Given the description of an element on the screen output the (x, y) to click on. 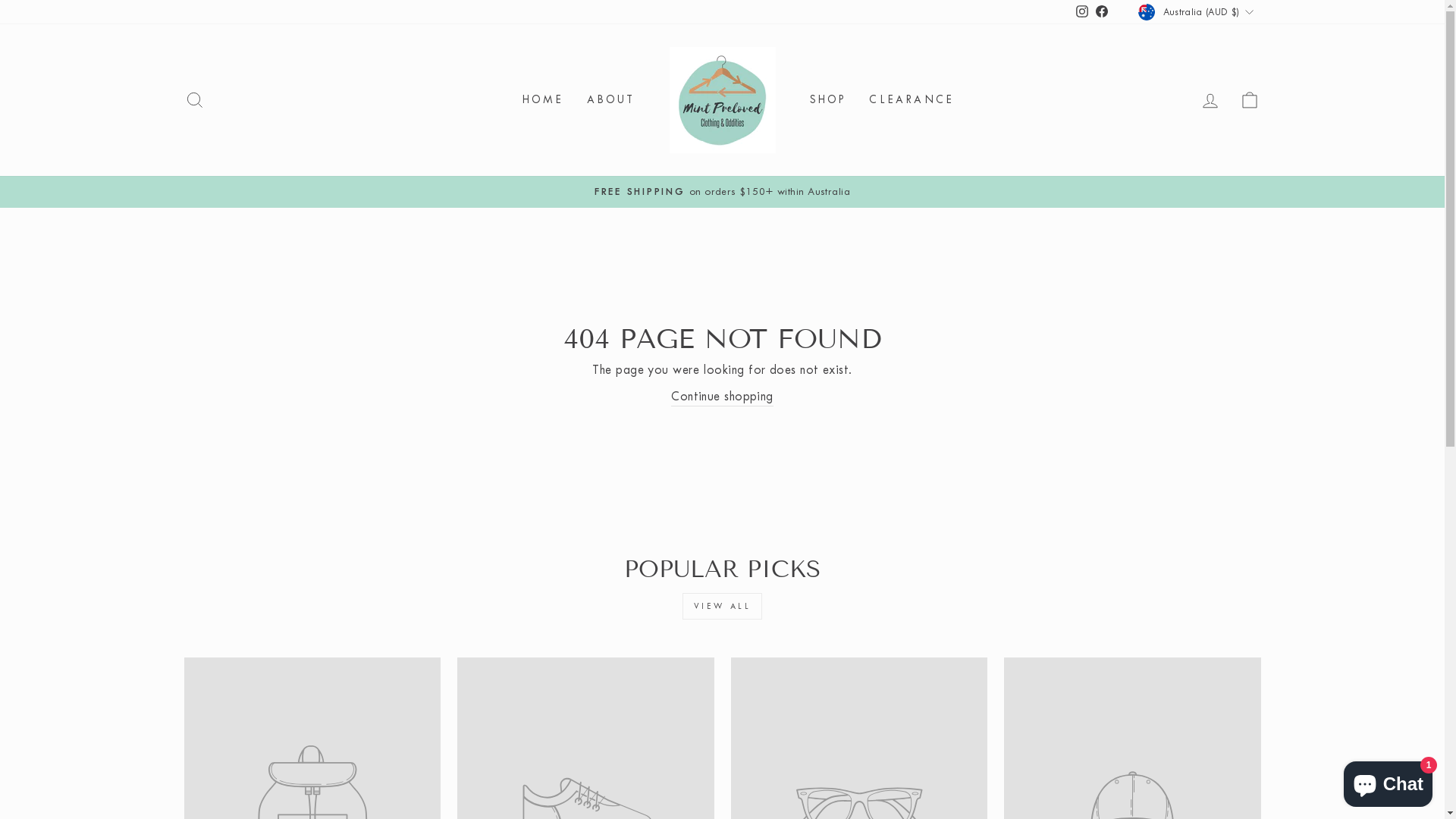
SHOP Element type: text (827, 100)
Instagram Element type: text (1082, 11)
Facebook Element type: text (1101, 11)
CLEARANCE Element type: text (911, 100)
Shopify online store chat Element type: hover (1388, 780)
HOME Element type: text (543, 100)
LOG IN Element type: text (1210, 100)
CART Element type: text (1249, 100)
Continue shopping Element type: text (722, 396)
Australia (AUD $) Element type: text (1197, 12)
SEARCH Element type: text (193, 100)
ABOUT Element type: text (610, 100)
Skip to content Element type: text (0, 0)
VIEW ALL Element type: text (722, 606)
